Given the description of an element on the screen output the (x, y) to click on. 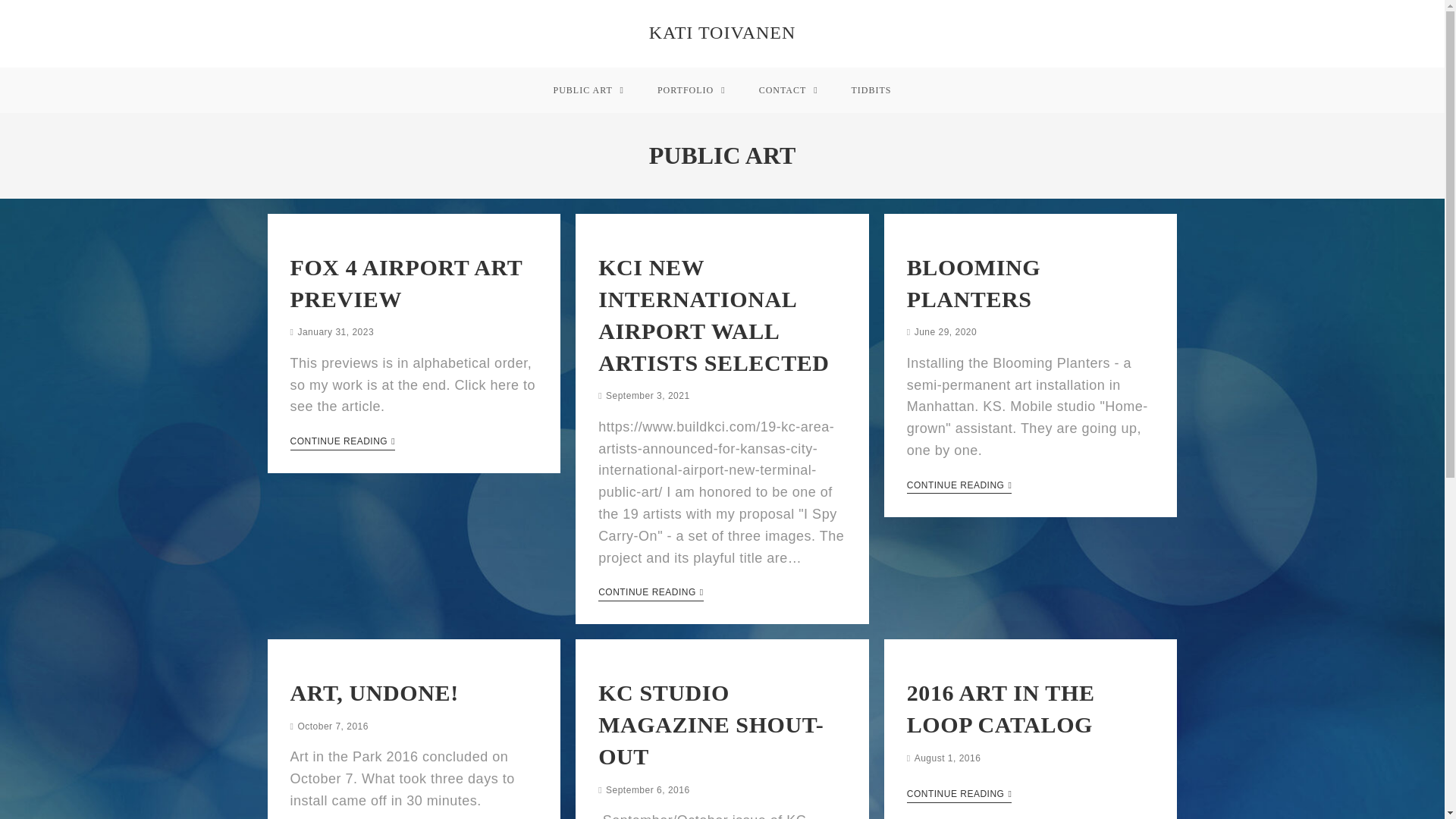
TIDBITS (871, 90)
Continue Reading (959, 795)
KATI TOIVANEN (722, 32)
KCI NEW INTERNATIONAL AIRPORT WALL ARTISTS SELECTED (713, 314)
Continue Reading (650, 593)
Art, Undone! (373, 692)
Blooming Planters (974, 283)
FOX 4 AIRPORT ART PREVIEW (405, 283)
2016 Art in the Loop Catalog (1000, 708)
ART, UNDONE! (373, 692)
PORTFOLIO (691, 90)
CONTACT (788, 90)
CONTINUE READING (959, 486)
CONTINUE READING (341, 442)
BLOOMING PLANTERS (974, 283)
